Given the description of an element on the screen output the (x, y) to click on. 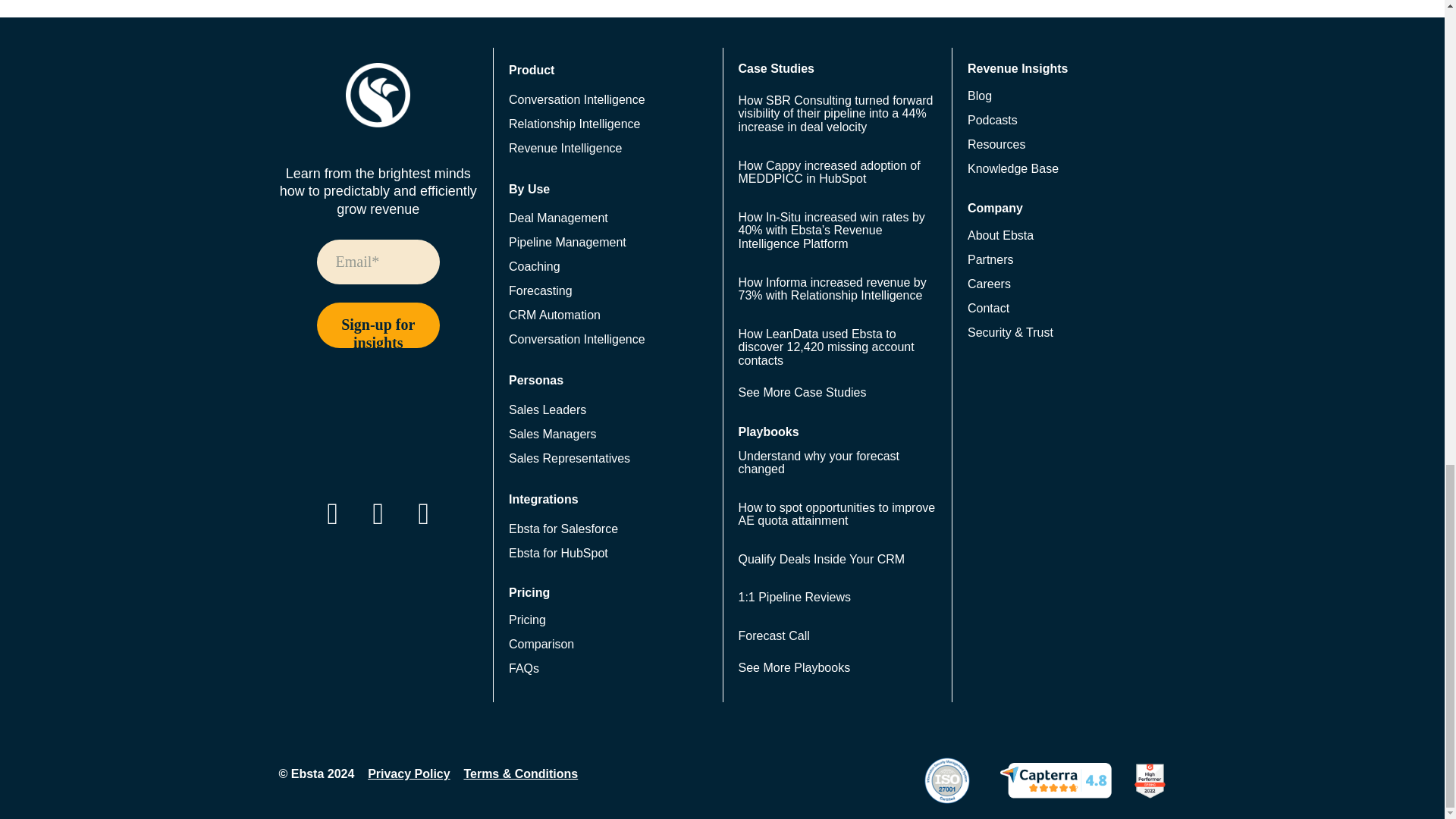
Sign-up for insights (379, 325)
